Given the description of an element on the screen output the (x, y) to click on. 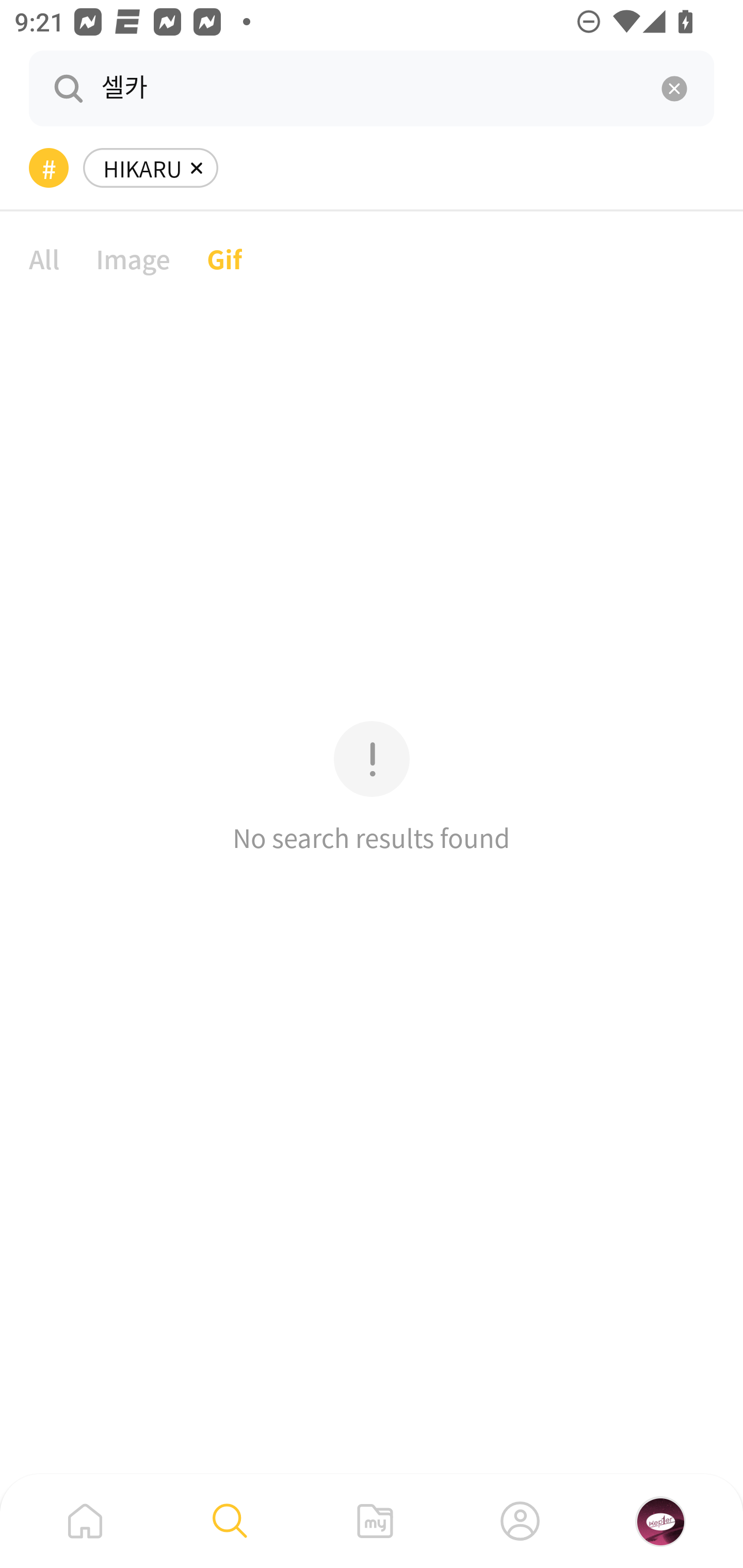
All (44, 257)
Image (132, 257)
Gif (224, 257)
